Given the description of an element on the screen output the (x, y) to click on. 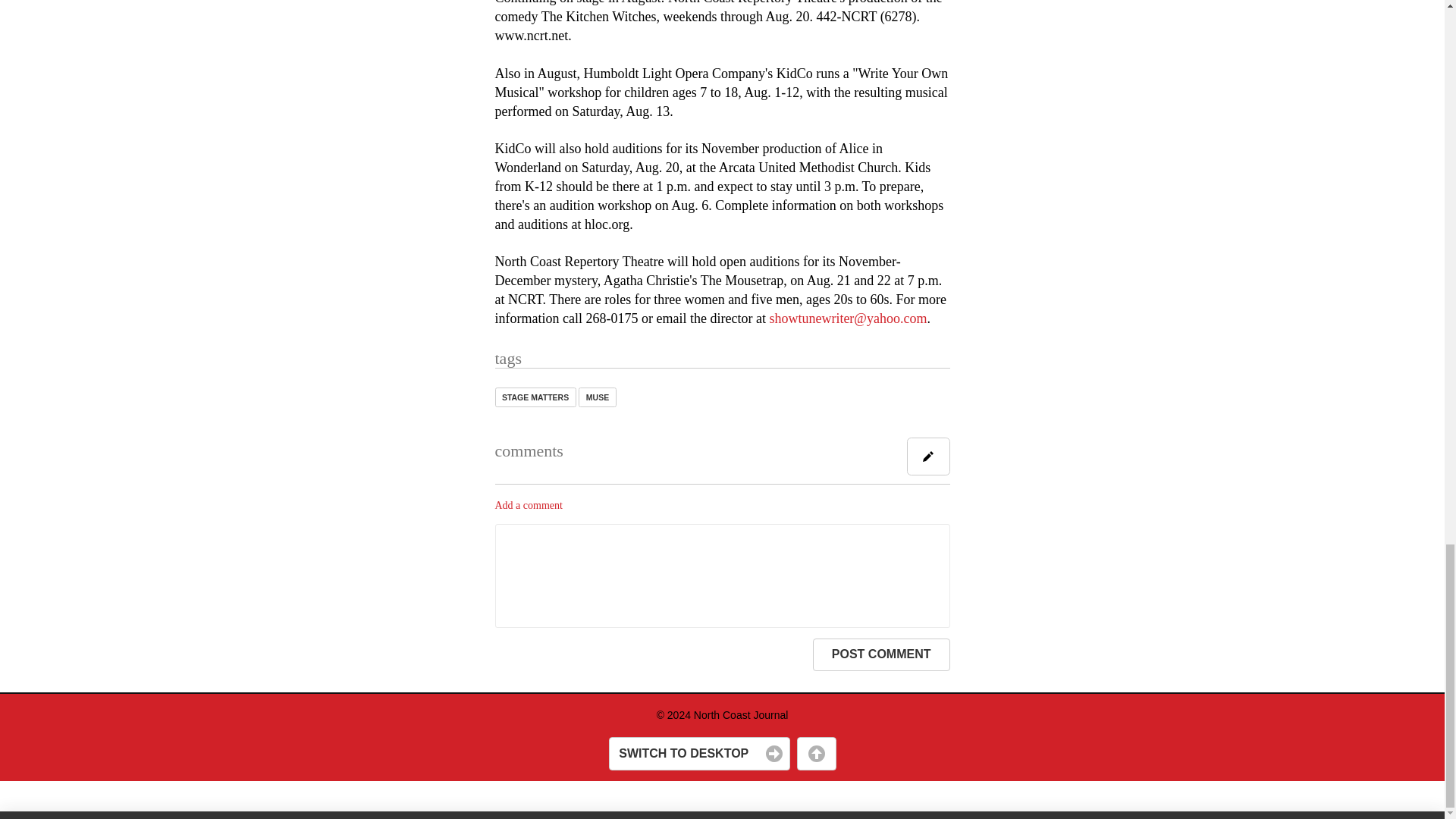
Add a comment (528, 505)
BACK TO TOP (815, 753)
STAGE MATTERS (535, 396)
Post Comment (881, 654)
Post Comment (881, 654)
MUSE (596, 396)
ADD A COMMENT (928, 456)
SWITCH TO DESKTOP (698, 753)
